Given the description of an element on the screen output the (x, y) to click on. 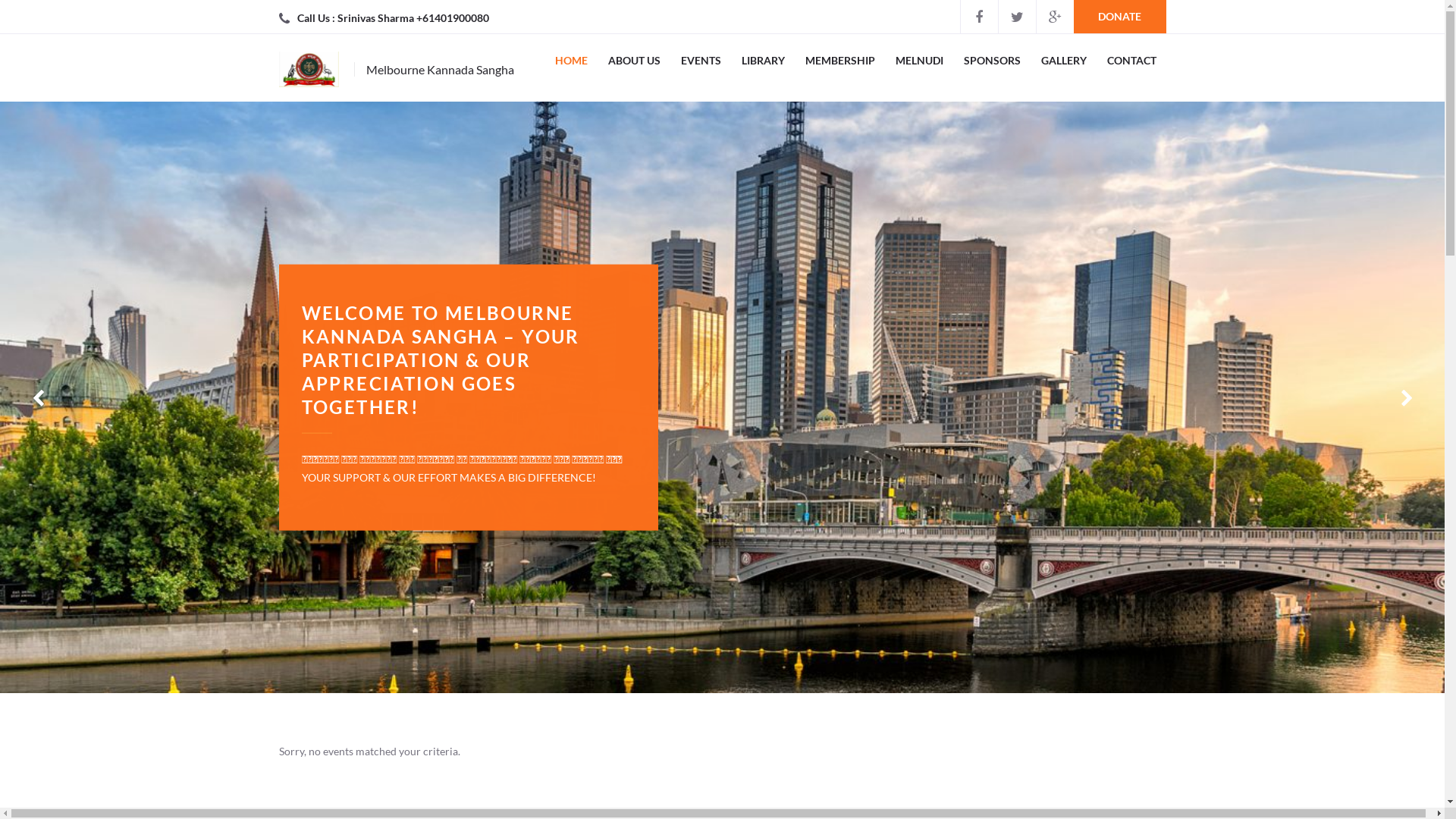
EVENTS Element type: text (700, 60)
GALLERY Element type: text (1062, 60)
DONATE Element type: text (1119, 16)
ABOUT US Element type: text (634, 60)
Twitter Element type: hover (1016, 16)
SPONSORS Element type: text (991, 60)
MEMBERSHIP Element type: text (840, 60)
Facebook Element type: hover (978, 16)
LIBRARY Element type: text (762, 60)
CONTACT Element type: text (1131, 60)
MELNUDI Element type: text (918, 60)
Google Plus Element type: hover (1054, 16)
Melbourne Kannada Sangha Element type: text (404, 69)
Call Us : Srinivas Sharma +61401900080 Element type: text (393, 17)
HOME Element type: text (571, 60)
